Given the description of an element on the screen output the (x, y) to click on. 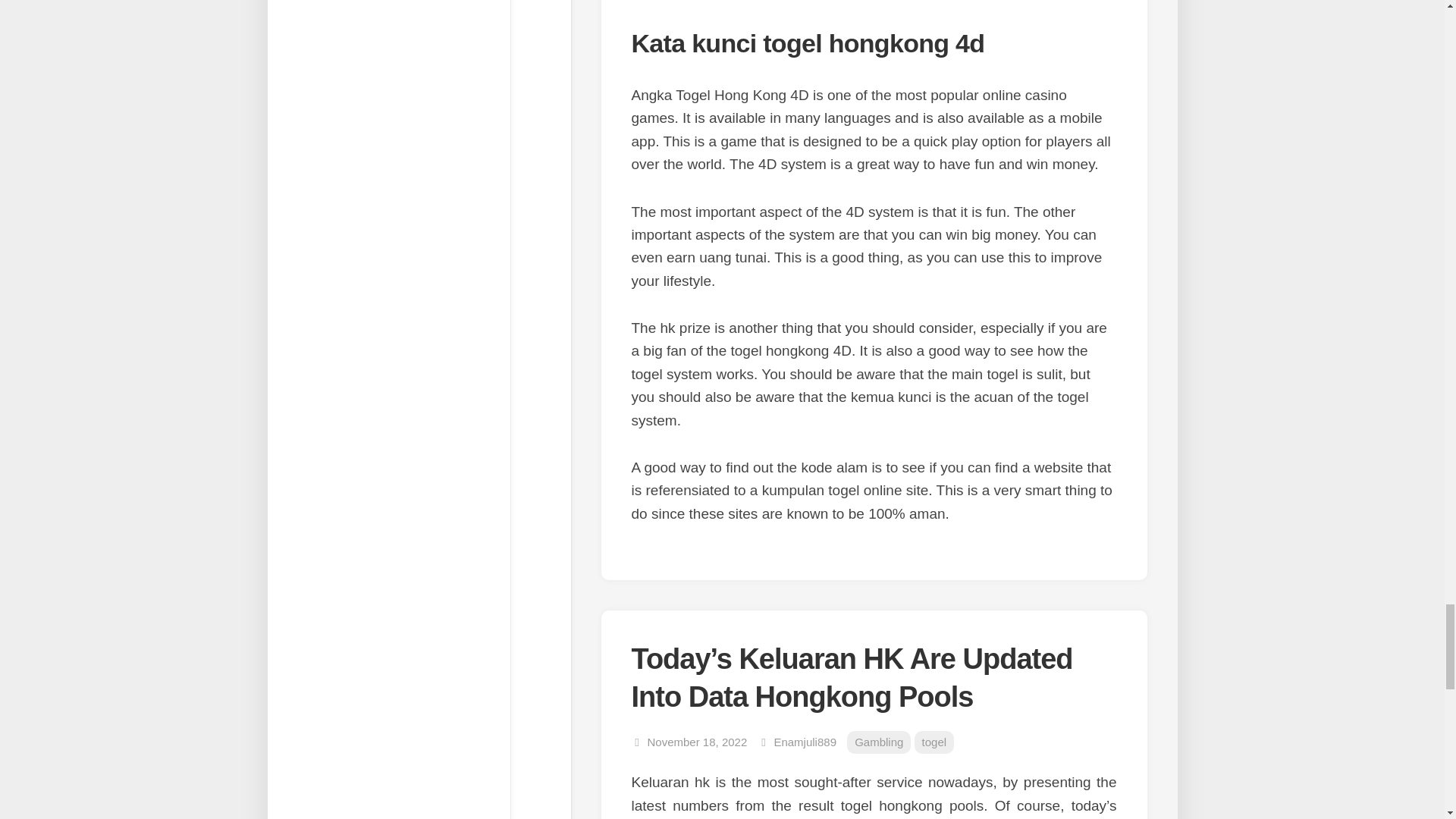
Gambling (879, 742)
togel (934, 742)
Posts by Enamjuli889 (804, 741)
Enamjuli889 (804, 741)
